Given the description of an element on the screen output the (x, y) to click on. 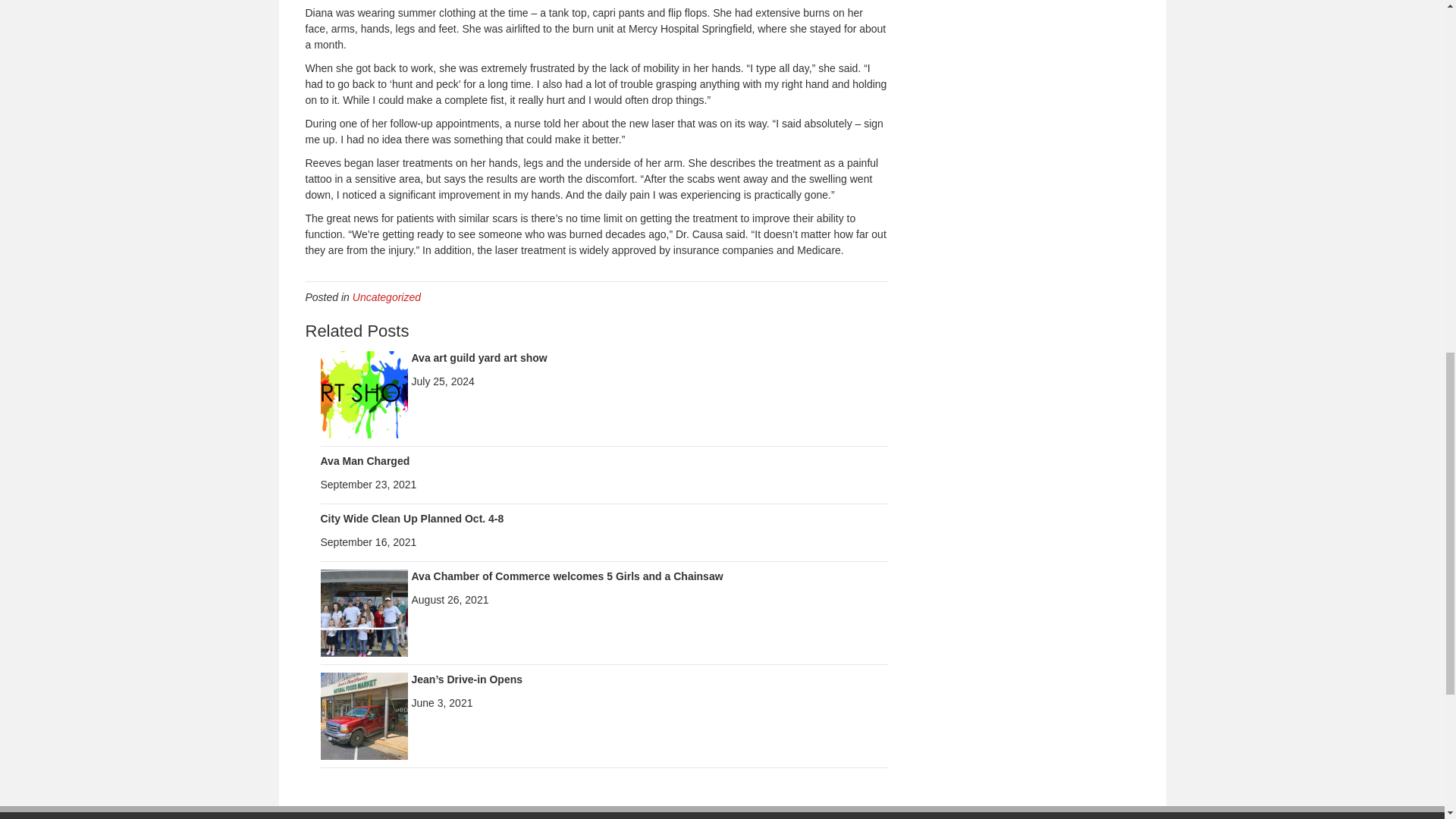
Ava Man Charged (364, 460)
Ava Chamber of Commerce welcomes 5 Girls and a Chainsaw (363, 612)
Ava art guild yard art show (478, 357)
City Wide Clean Up Planned Oct. 4-8 (411, 518)
Ava art guild yard art show (478, 357)
Ava art guild yard art show (363, 393)
Ava Man Charged (364, 460)
Ava Chamber of Commerce welcomes 5 Girls and a Chainsaw (566, 576)
Ava Chamber of Commerce welcomes 5 Girls and a Chainsaw (566, 576)
City Wide Clean Up Planned Oct. 4-8 (411, 518)
